Given the description of an element on the screen output the (x, y) to click on. 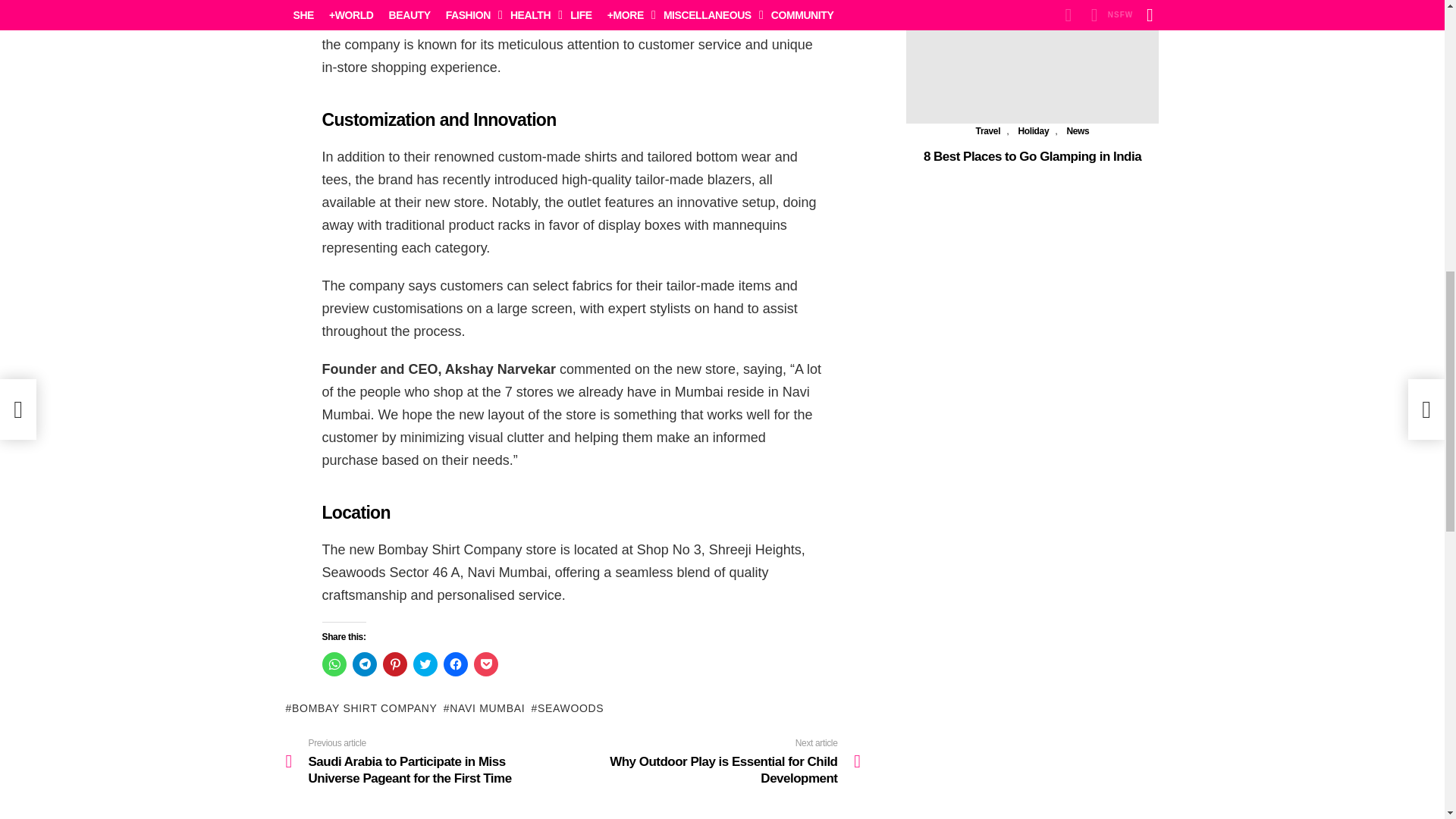
Click to share on Twitter (424, 663)
Click to share on Pinterest (393, 663)
Click to share on Telegram (363, 663)
Click to share on WhatsApp (333, 663)
